Given the description of an element on the screen output the (x, y) to click on. 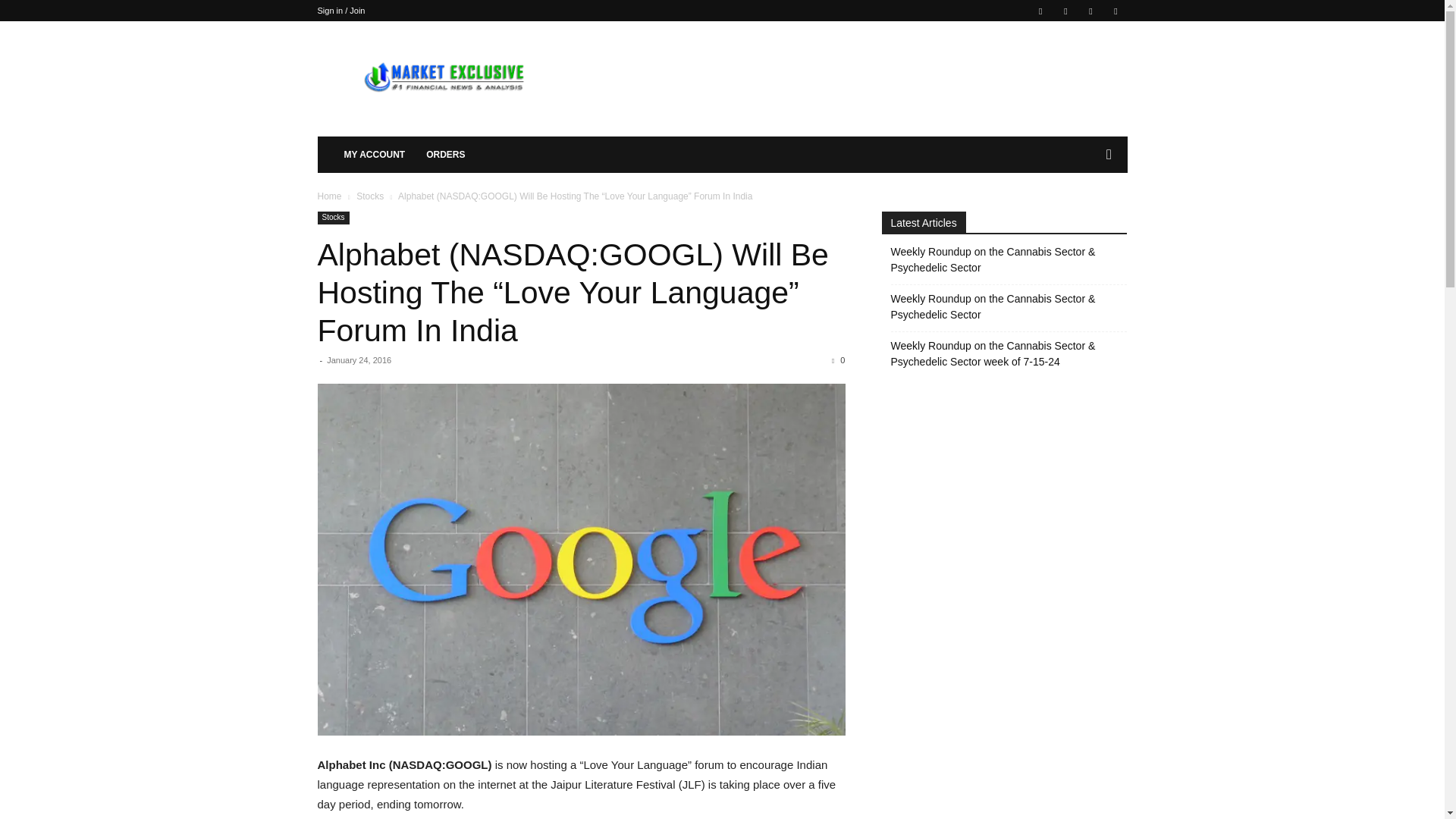
Search (1085, 215)
ORDERS (445, 154)
0 (837, 359)
Home (328, 195)
MY ACCOUNT (374, 154)
Facebook (1040, 10)
Tumblr (1090, 10)
Stocks (370, 195)
Twitter (1114, 10)
Stocks (333, 217)
